Given the description of an element on the screen output the (x, y) to click on. 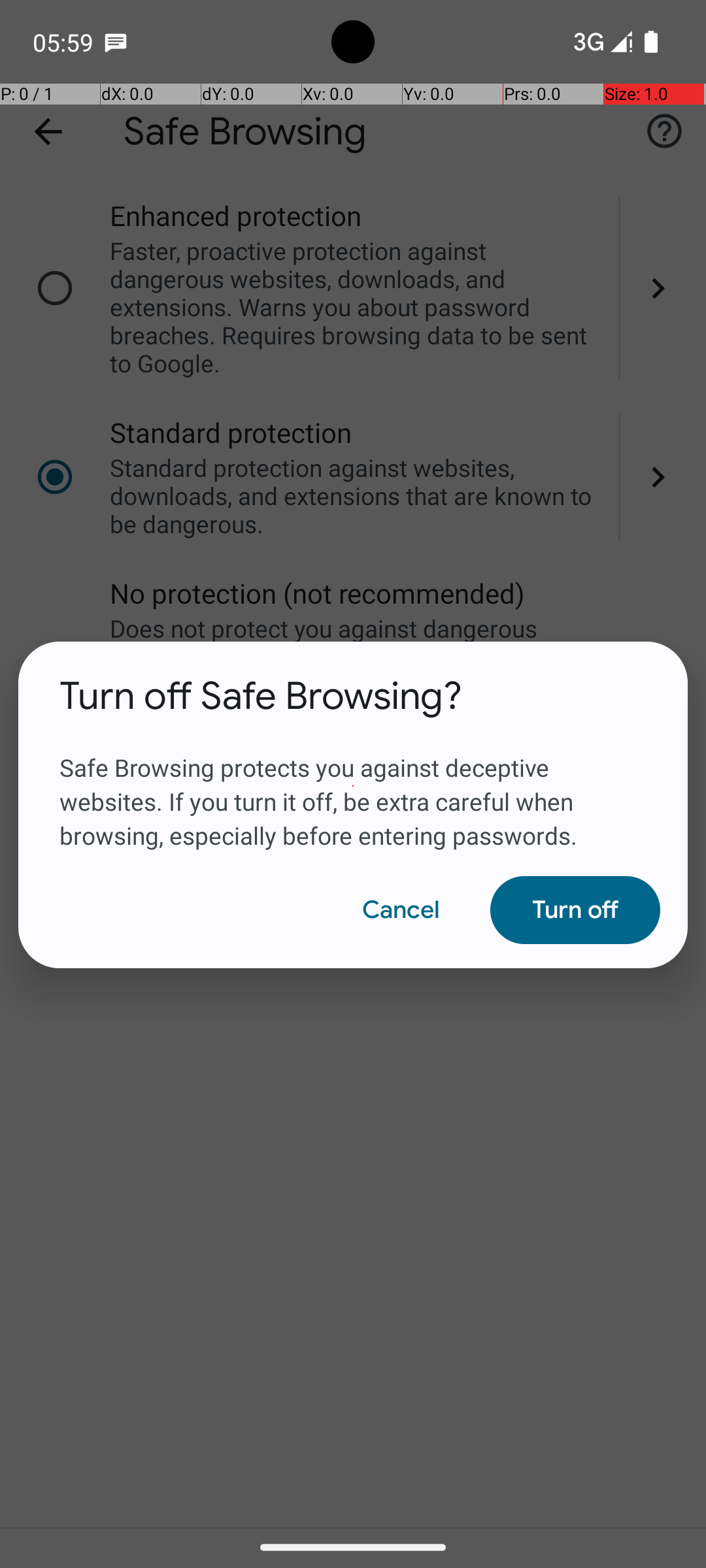
Turn off Safe Browsing? Element type: android.widget.TextView (260, 695)
Safe Browsing protects you against deceptive websites. If you turn it off, be extra careful when browsing, especially before entering passwords. Element type: android.widget.TextView (352, 785)
Turn off Element type: android.widget.Button (575, 909)
05:59 Element type: android.widget.TextView (64, 41)
